Given the description of an element on the screen output the (x, y) to click on. 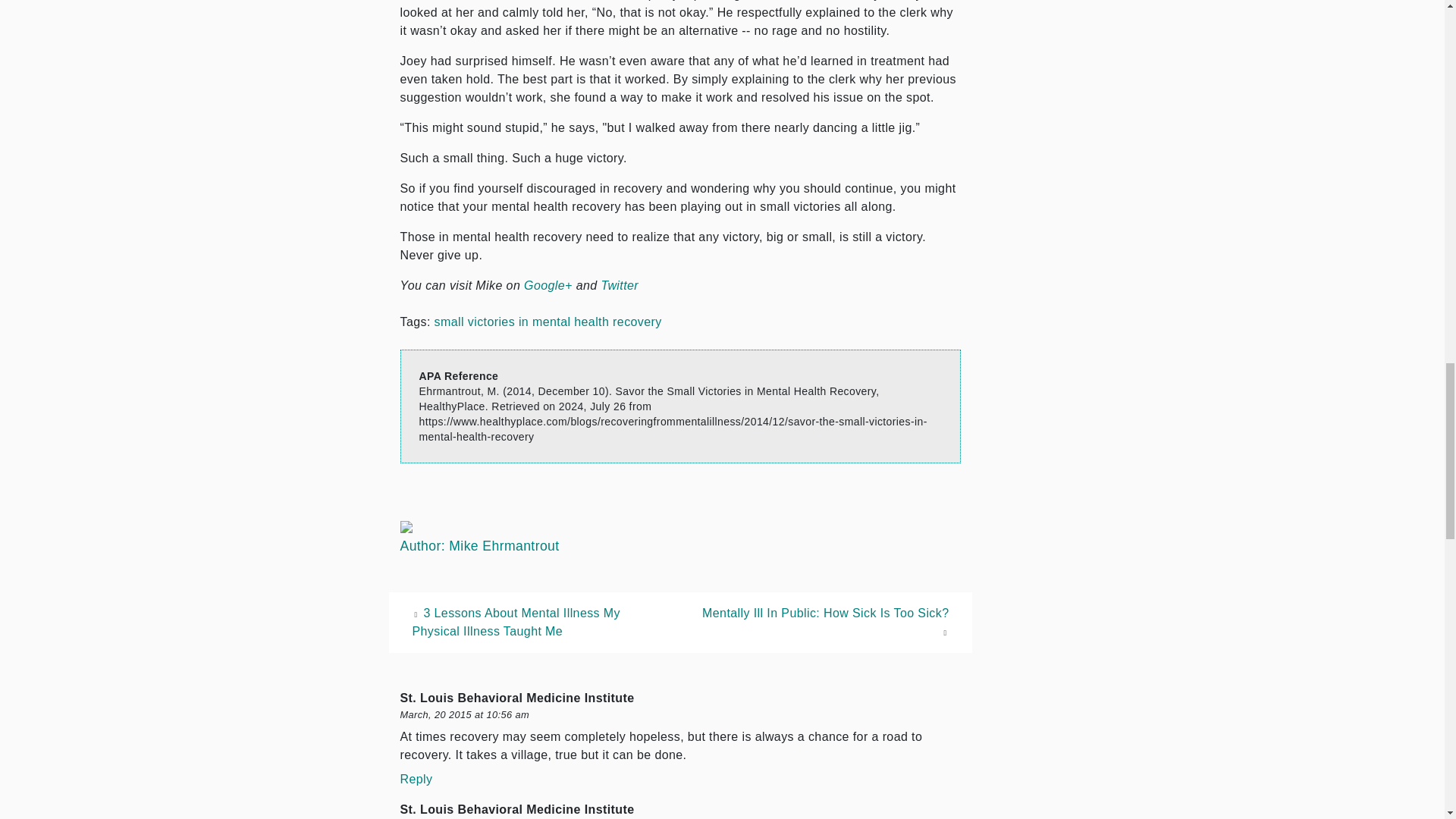
Twitter Profile (619, 285)
